Given the description of an element on the screen output the (x, y) to click on. 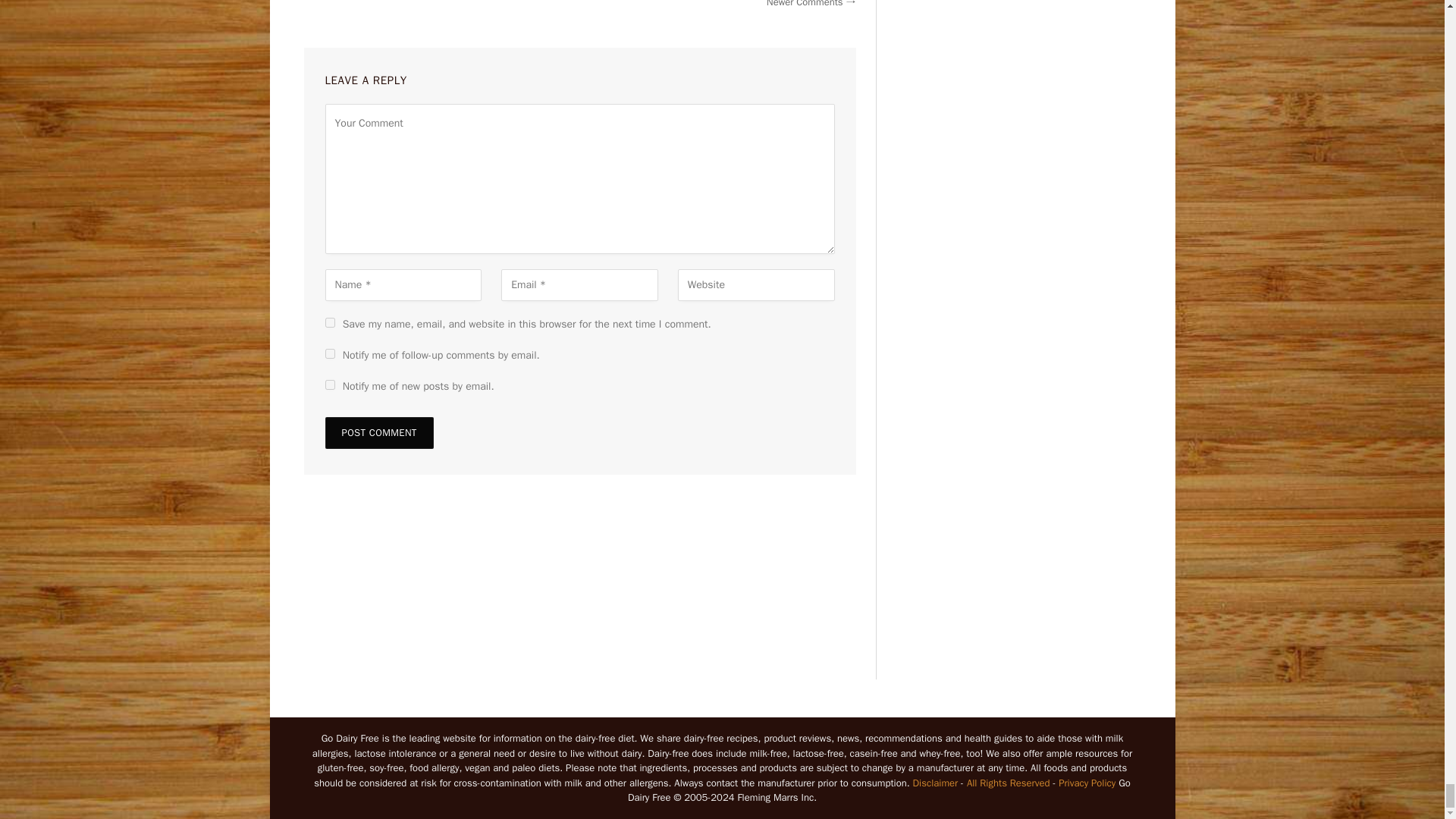
subscribe (329, 353)
Post Comment (378, 432)
yes (329, 322)
subscribe (329, 384)
